Given the description of an element on the screen output the (x, y) to click on. 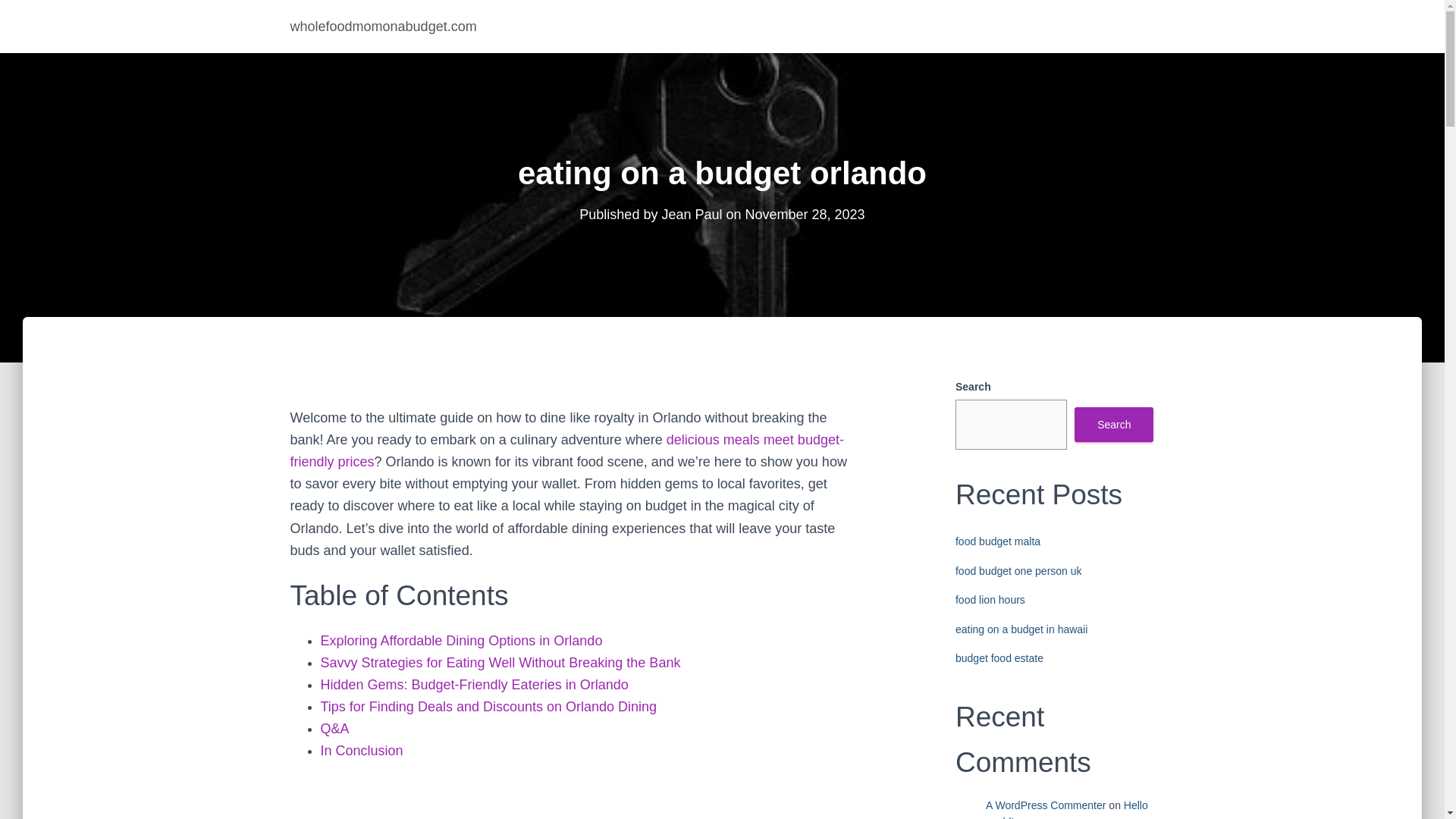
Jean Paul (691, 214)
food budget malta (998, 541)
wholefoodmomonabudget.com (383, 26)
delicious meals meet budget-friendly prices (566, 450)
Exploring Affordable Dining Options in Orlando (461, 640)
Search (1113, 425)
budget food estate (999, 657)
food budget one person uk (1018, 571)
wholefoodmomonabudget.com (383, 26)
Hidden Gems: Budget-Friendly Eateries in Orlando (473, 684)
Tips for Finding Deals and Discounts on Orlando Dining (488, 706)
In Conclusion (361, 750)
Hello world! (1066, 809)
eating on a budget in hawaii (1021, 629)
food lion hours (990, 599)
